Given the description of an element on the screen output the (x, y) to click on. 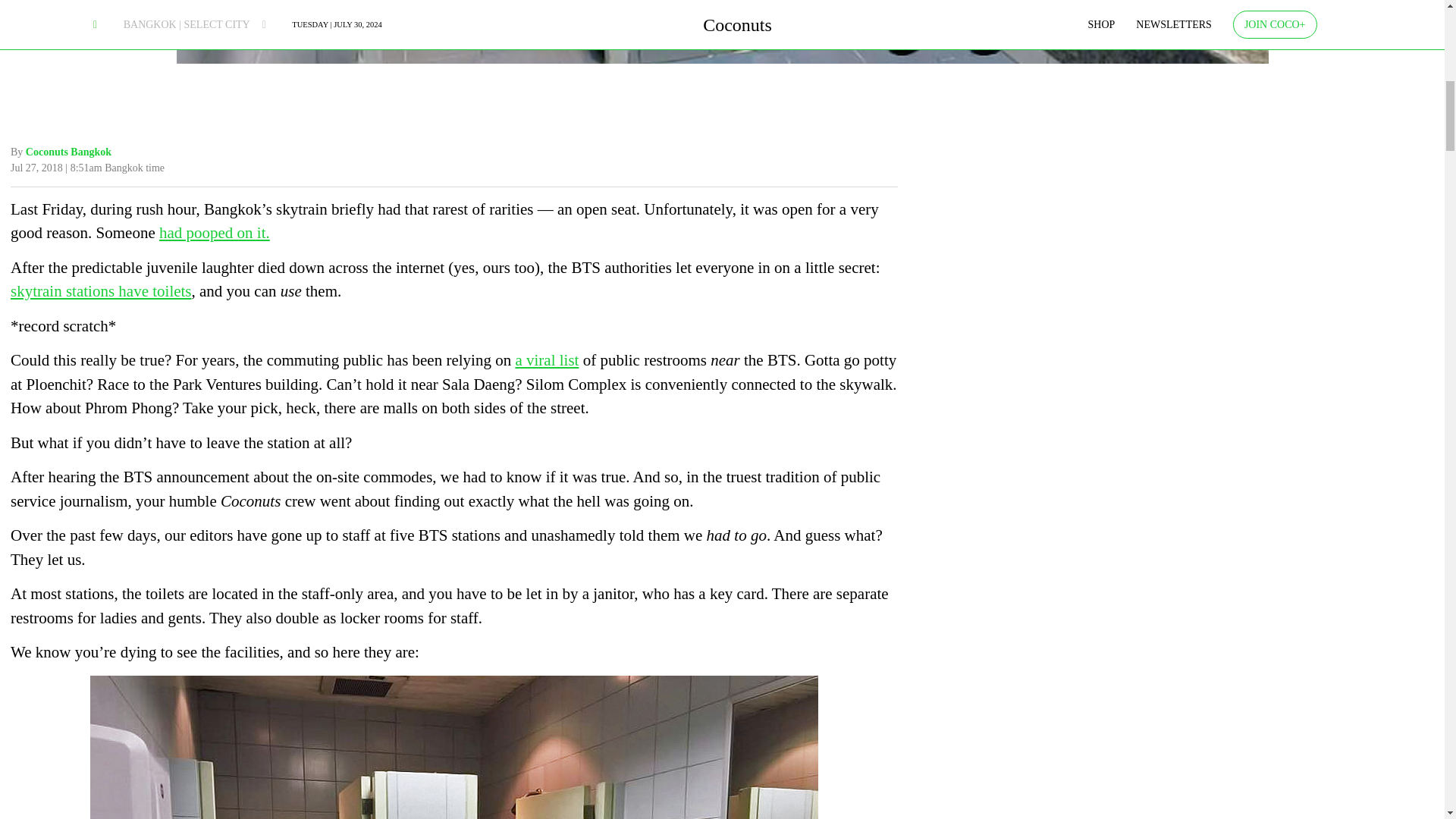
Coconuts Bangkok (69, 152)
